Given the description of an element on the screen output the (x, y) to click on. 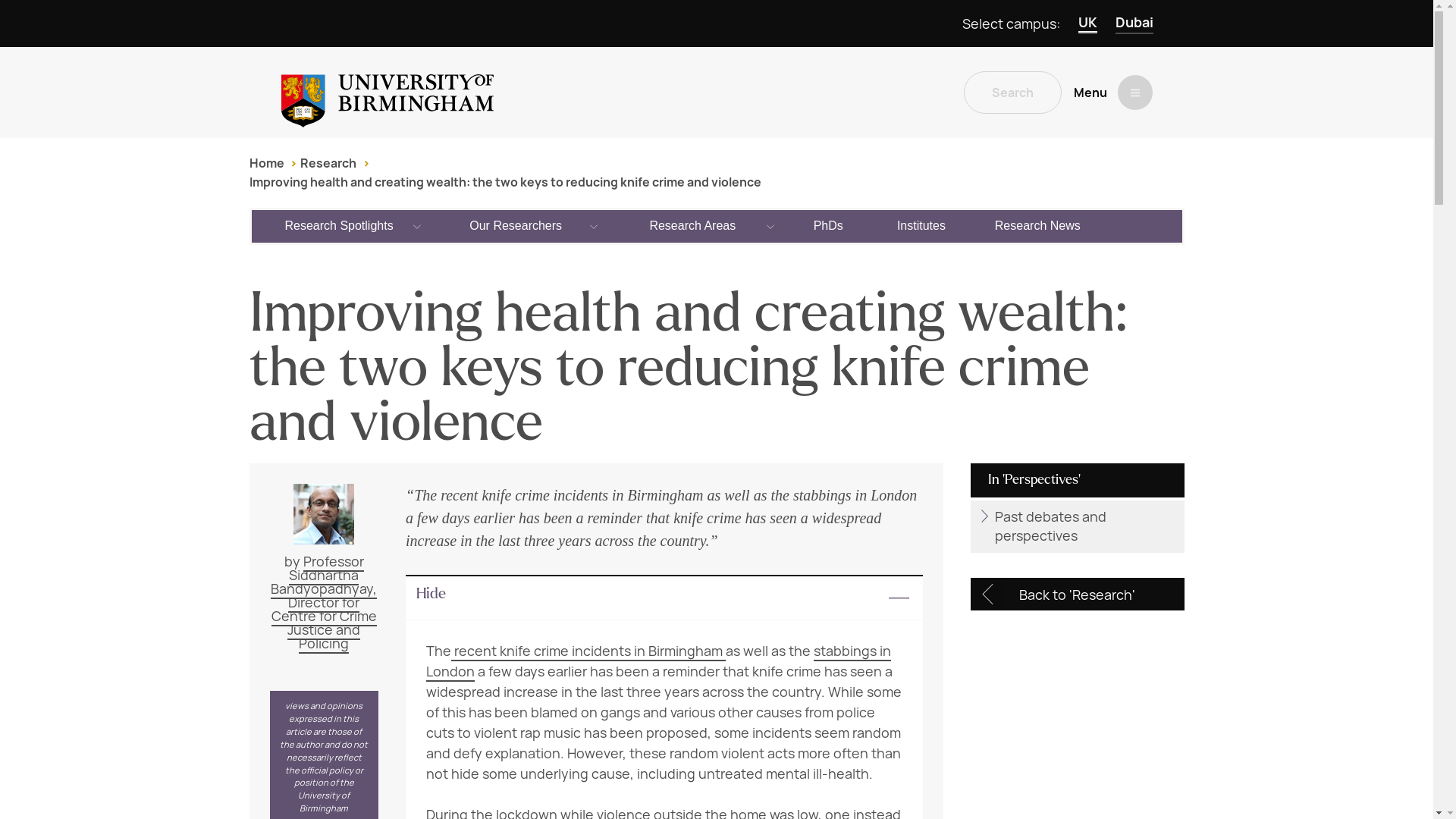
Dubai (1134, 23)
UK (1087, 23)
Research (327, 162)
Home (265, 162)
Research Spotlights (339, 225)
Research Areas (693, 225)
Search (1012, 92)
Our Researchers (516, 225)
